Given the description of an element on the screen output the (x, y) to click on. 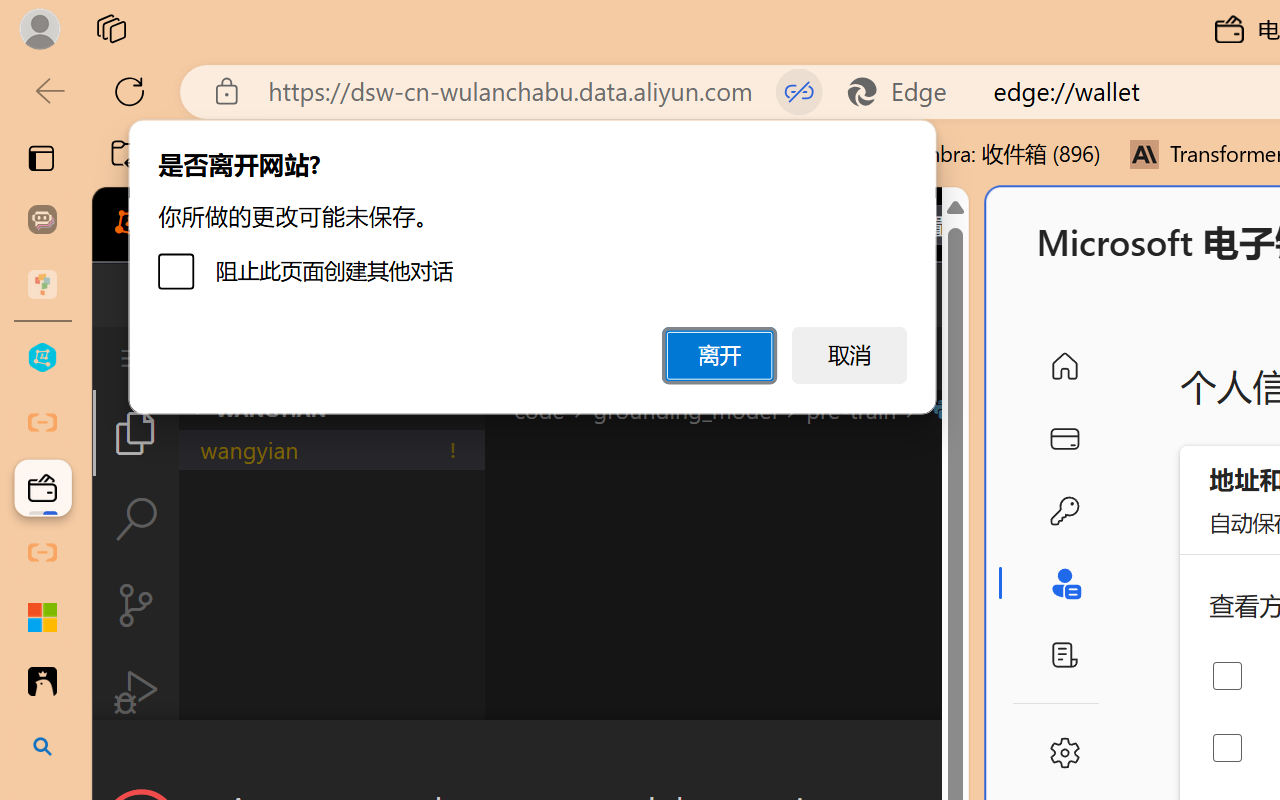
Adjust indents and spacing - Microsoft Support (42, 617)
Class: actions-container (529, 756)
Close Dialog (959, 756)
